Given the description of an element on the screen output the (x, y) to click on. 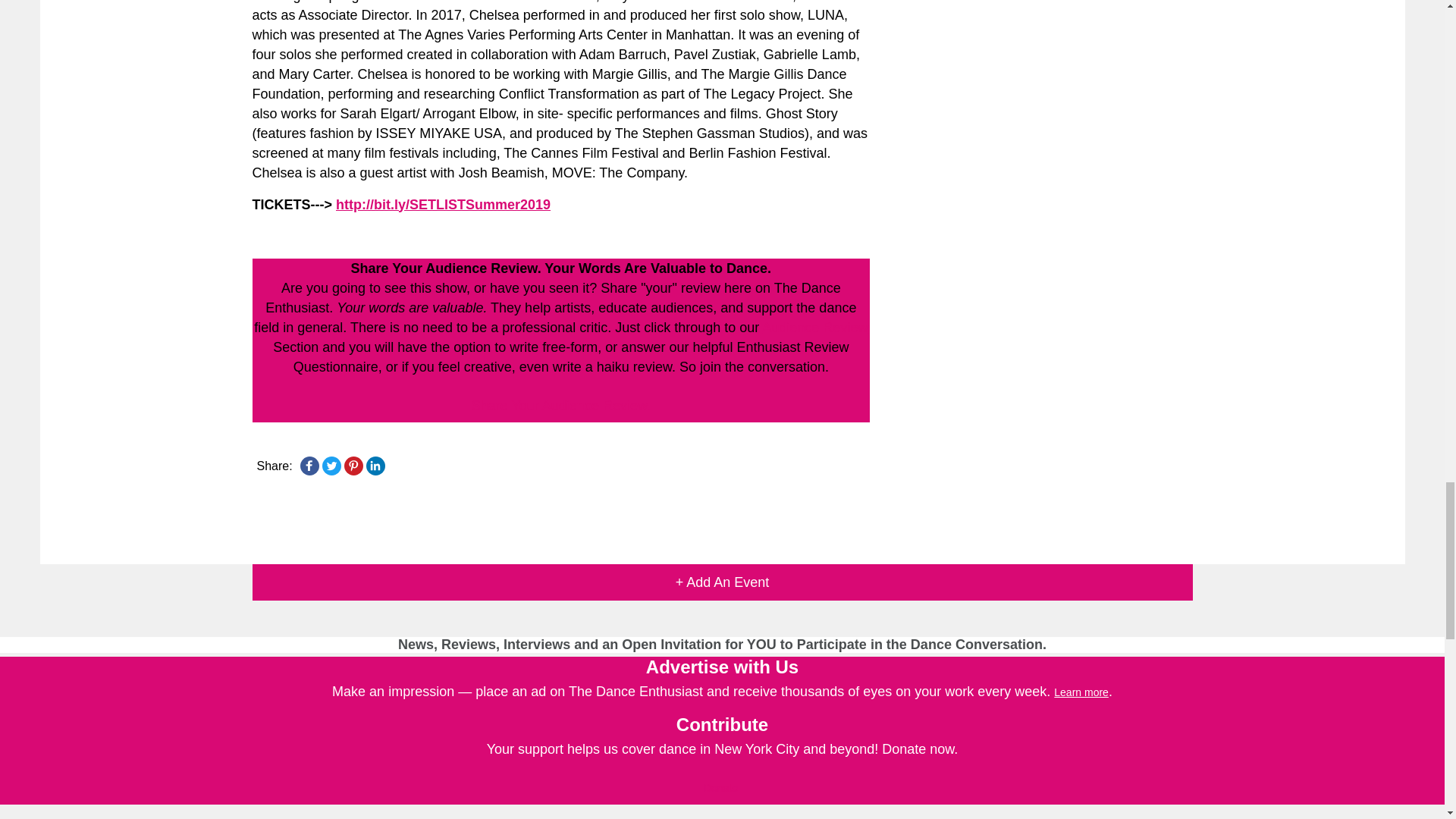
Twitter (331, 465)
LinkedIn (375, 465)
Facebook (309, 465)
Pinterest (353, 465)
